Given the description of an element on the screen output the (x, y) to click on. 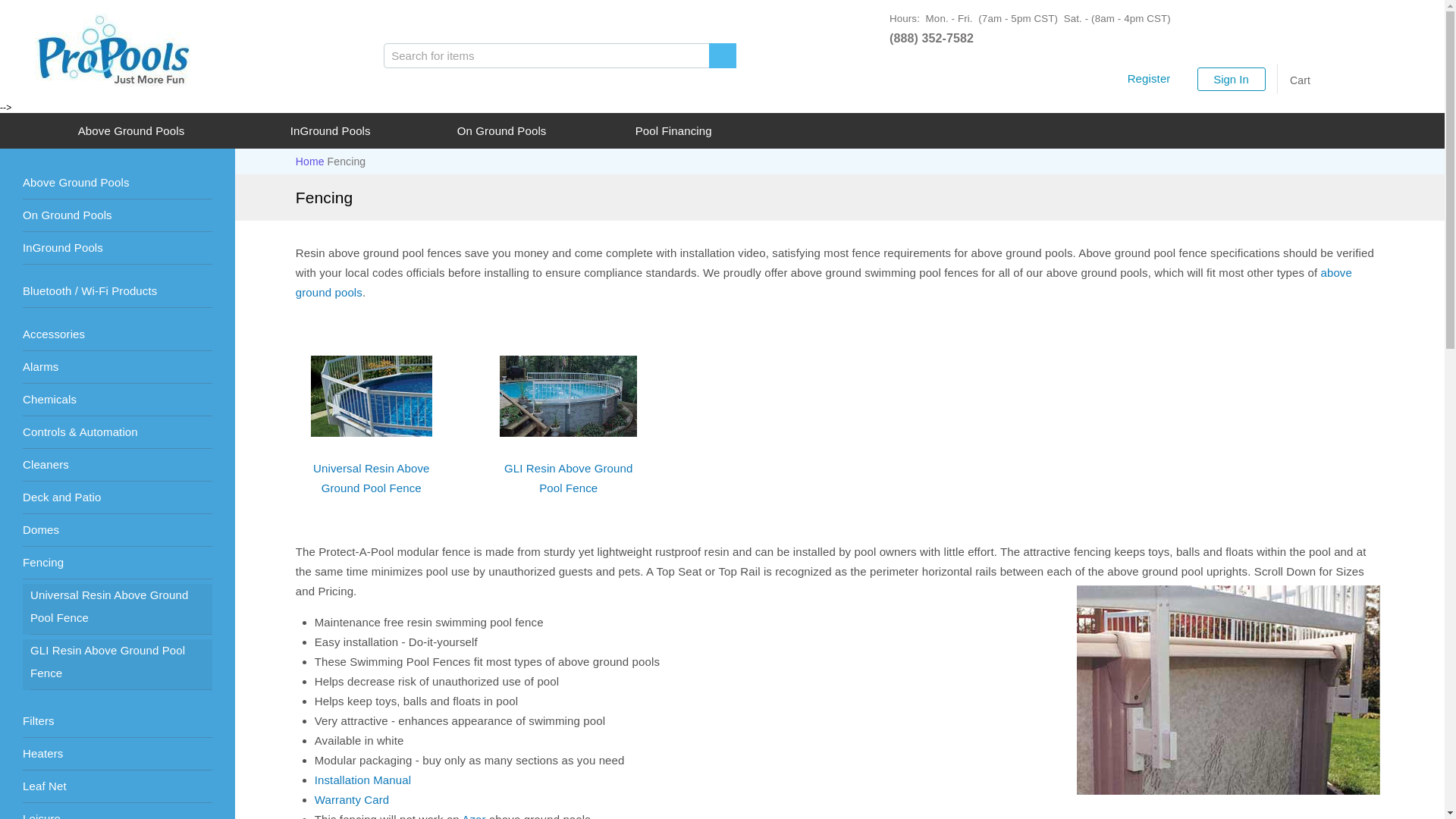
Register (1148, 78)
On Ground Pools (67, 214)
Above Ground Pool Fence Warranty Card (352, 799)
Above Ground Pools (76, 182)
Cart (1299, 78)
Above Ground Pools (823, 282)
Search for items (546, 54)
InGround Pools (63, 246)
Sign In (1230, 78)
Search for items (546, 54)
Above Ground Pool Fence Installation Instructions (362, 779)
